Given the description of an element on the screen output the (x, y) to click on. 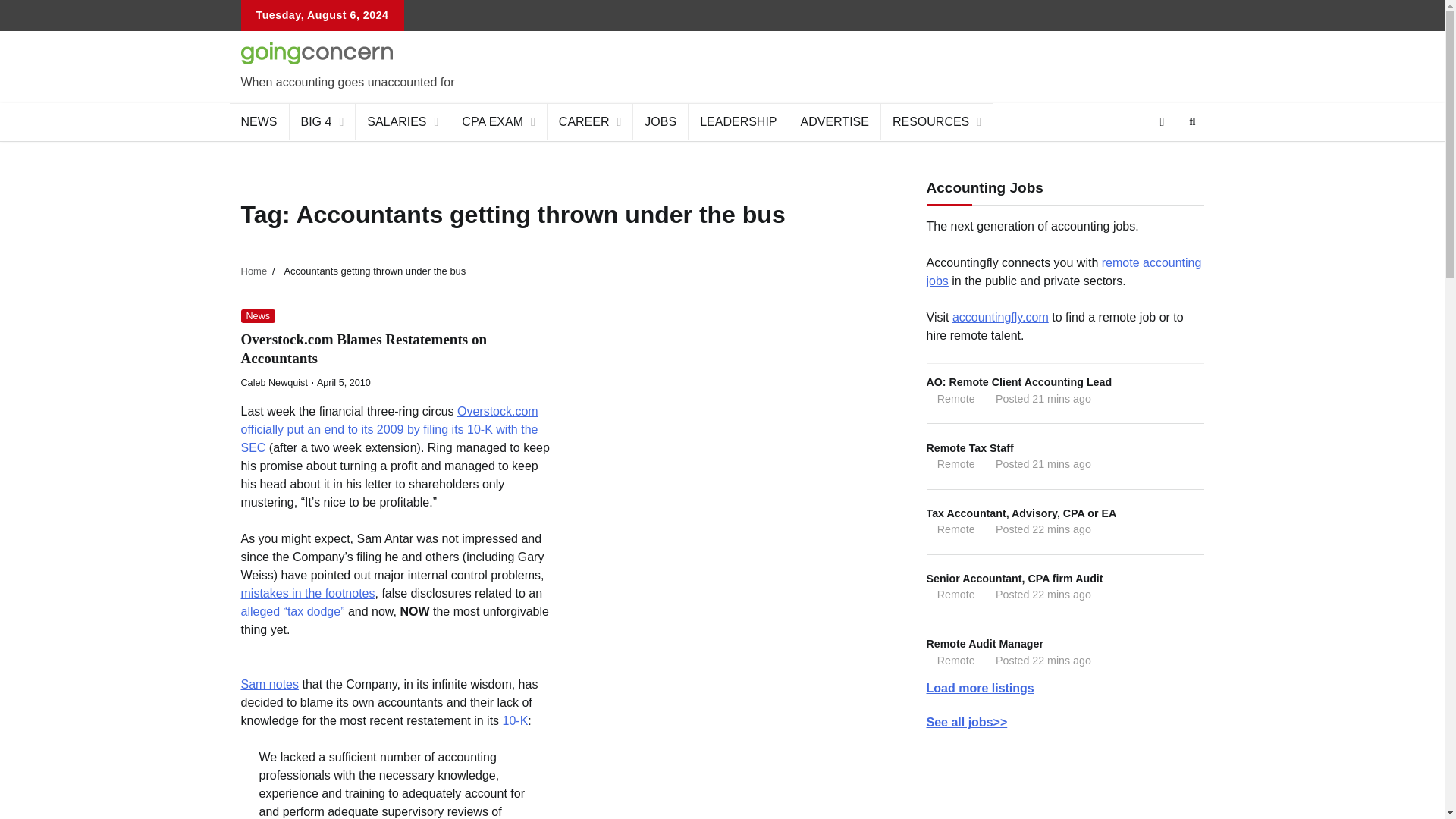
BIG 4 (322, 121)
LEADERSHIP (738, 121)
View Random Post (1162, 121)
Search (1164, 157)
NEWS (258, 121)
RESOURCES (936, 121)
Caleb Newquist (274, 382)
JOBS (660, 121)
accountingfly.com (1000, 317)
Home (254, 270)
10-K (515, 720)
CPA EXAM (498, 121)
mistakes in the footnotes (308, 593)
Sam notes (269, 684)
remote accounting jobs (1064, 271)
